Given the description of an element on the screen output the (x, y) to click on. 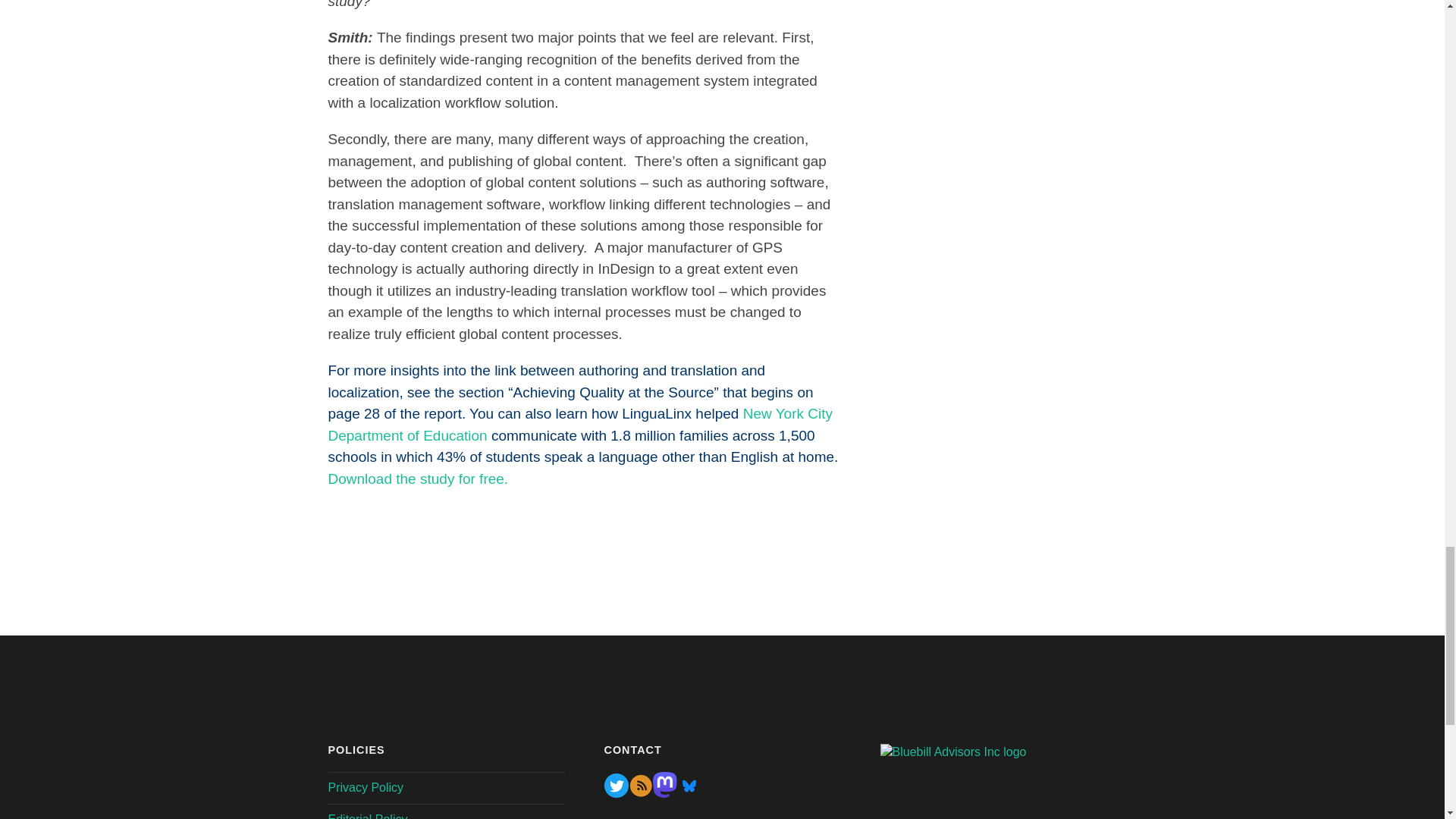
Gilbane Bluesky feed (688, 793)
Gilbane twitter feed (615, 793)
Mastadon-logo-purple-32x34 (664, 793)
